Given the description of an element on the screen output the (x, y) to click on. 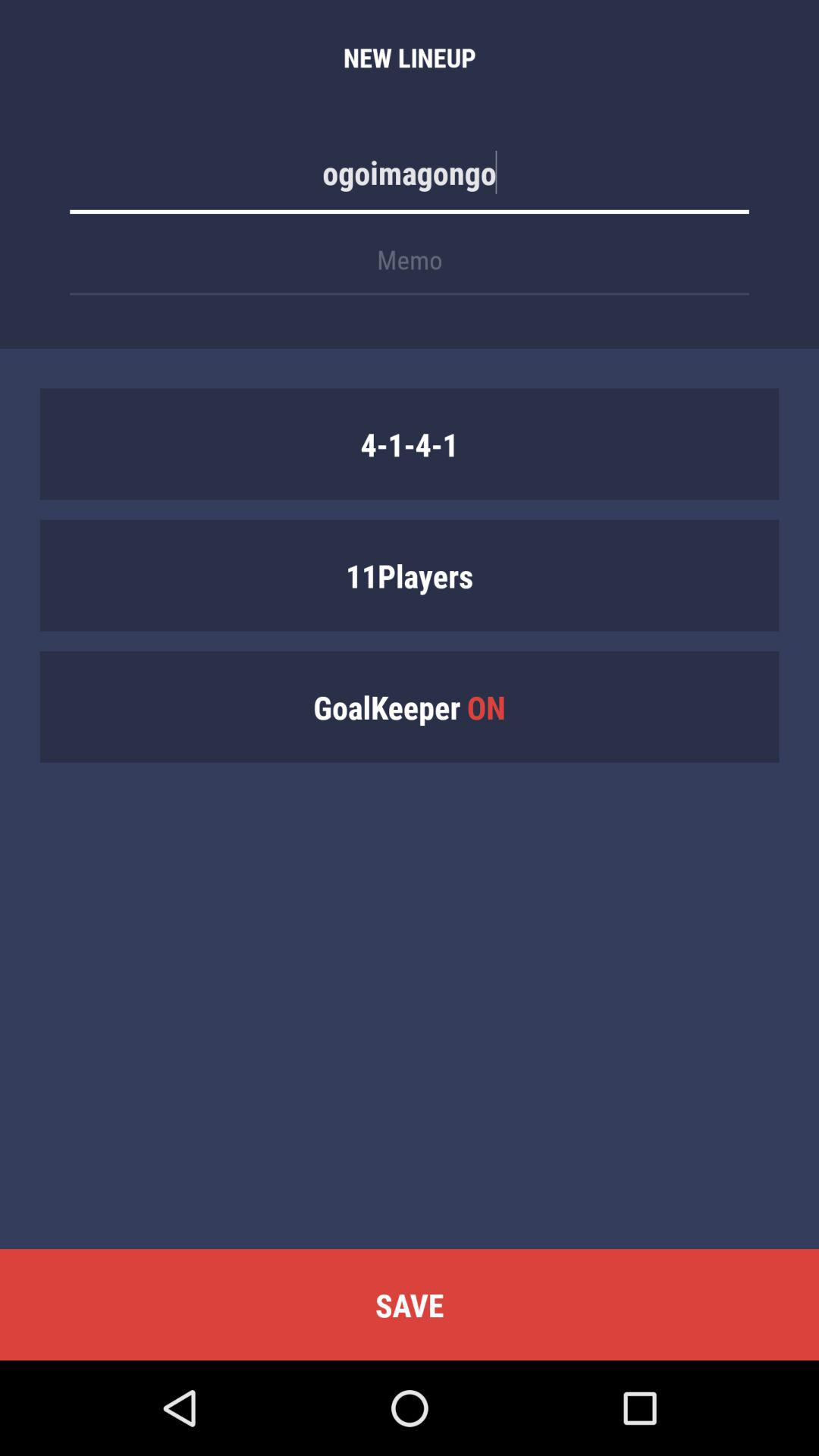
turn on icon below the goalkeeper (409, 1304)
